Given the description of an element on the screen output the (x, y) to click on. 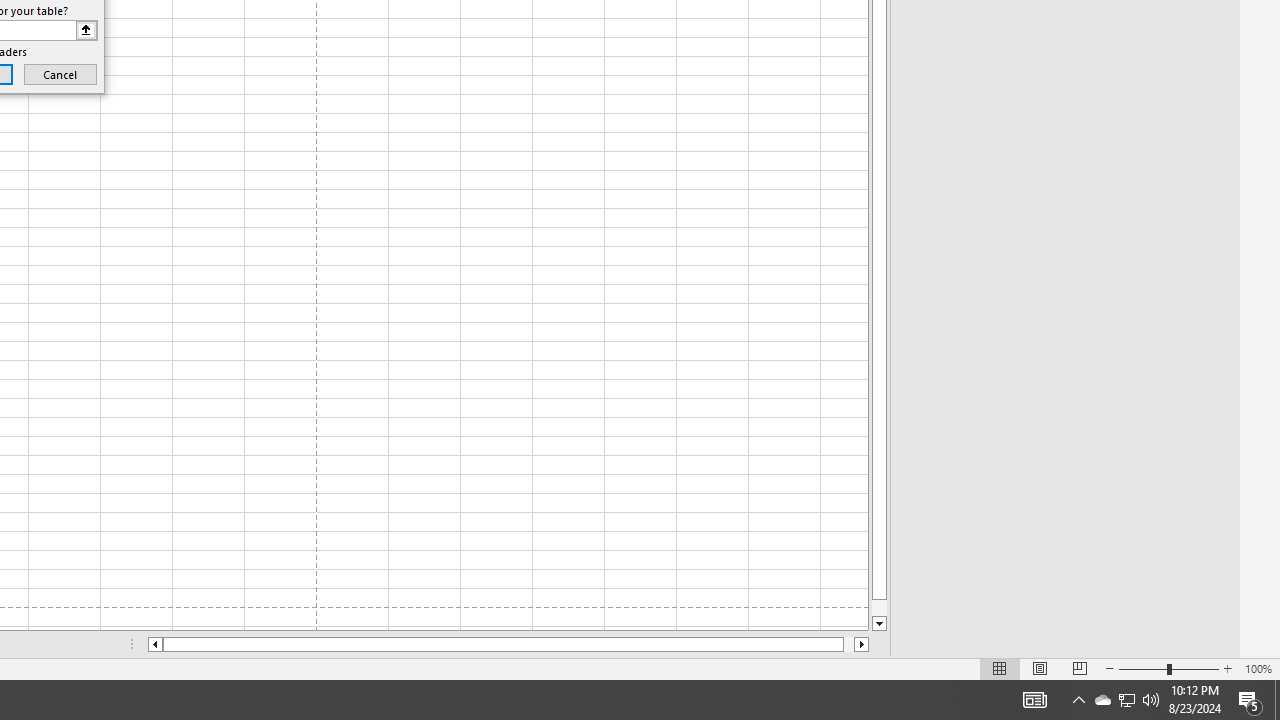
Page right (848, 644)
Page down (879, 607)
Zoom (1168, 668)
Page Layout (1039, 668)
Line down (879, 624)
Column left (153, 644)
Column right (861, 644)
Zoom In (1227, 668)
Class: NetUIScrollBar (507, 644)
Zoom Out (1142, 668)
Page Break Preview (1079, 668)
Normal (1000, 668)
